Given the description of an element on the screen output the (x, y) to click on. 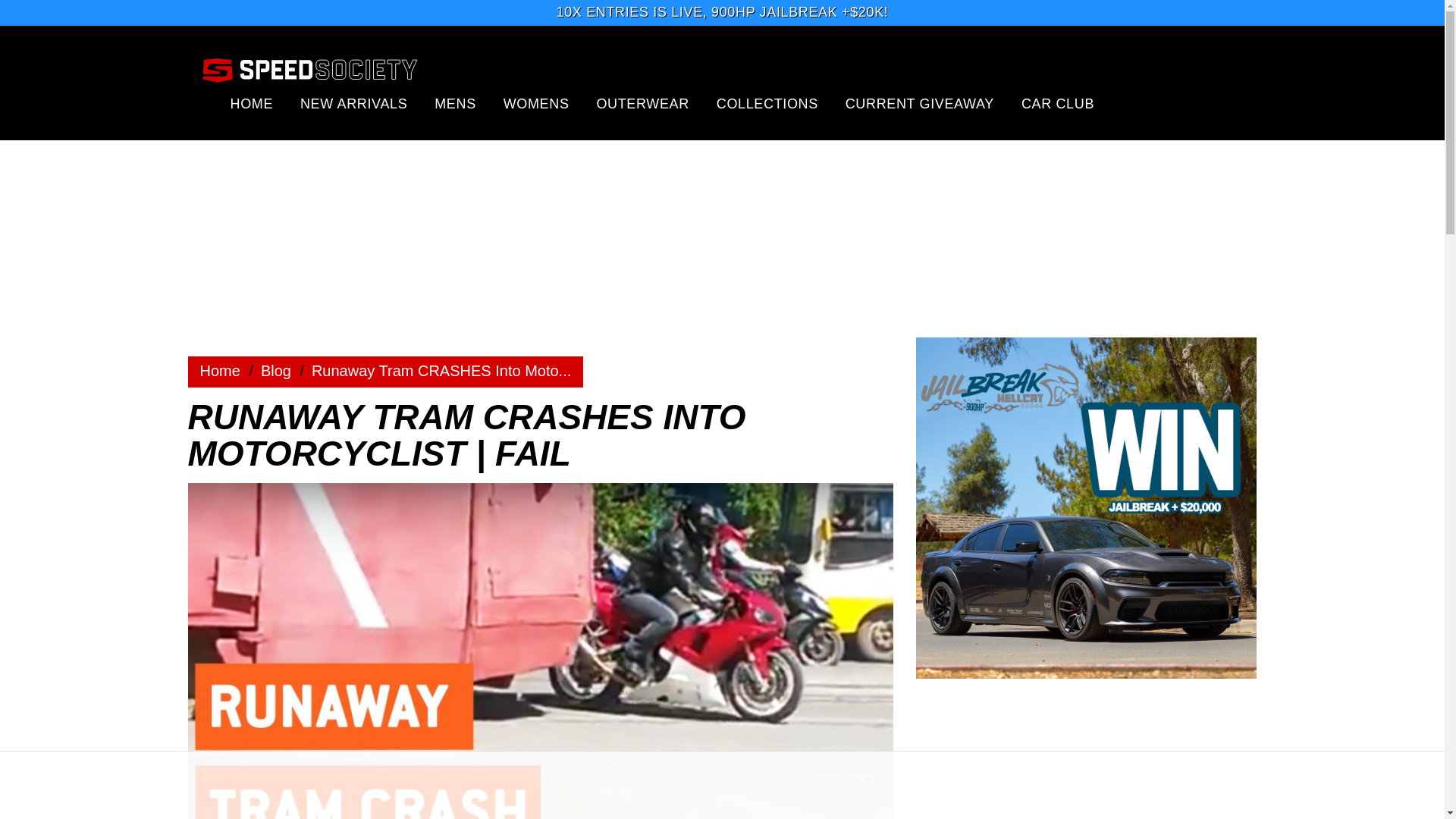
speed society logo (308, 69)
Home (220, 370)
CAR CLUB (1058, 103)
WOMENS (536, 103)
COLLECTIONS (767, 103)
Runaway Tram CRASHES Into Moto... (440, 370)
NEW ARRIVALS (353, 103)
HOME (251, 103)
Blog (275, 370)
MENS (454, 103)
